Given the description of an element on the screen output the (x, y) to click on. 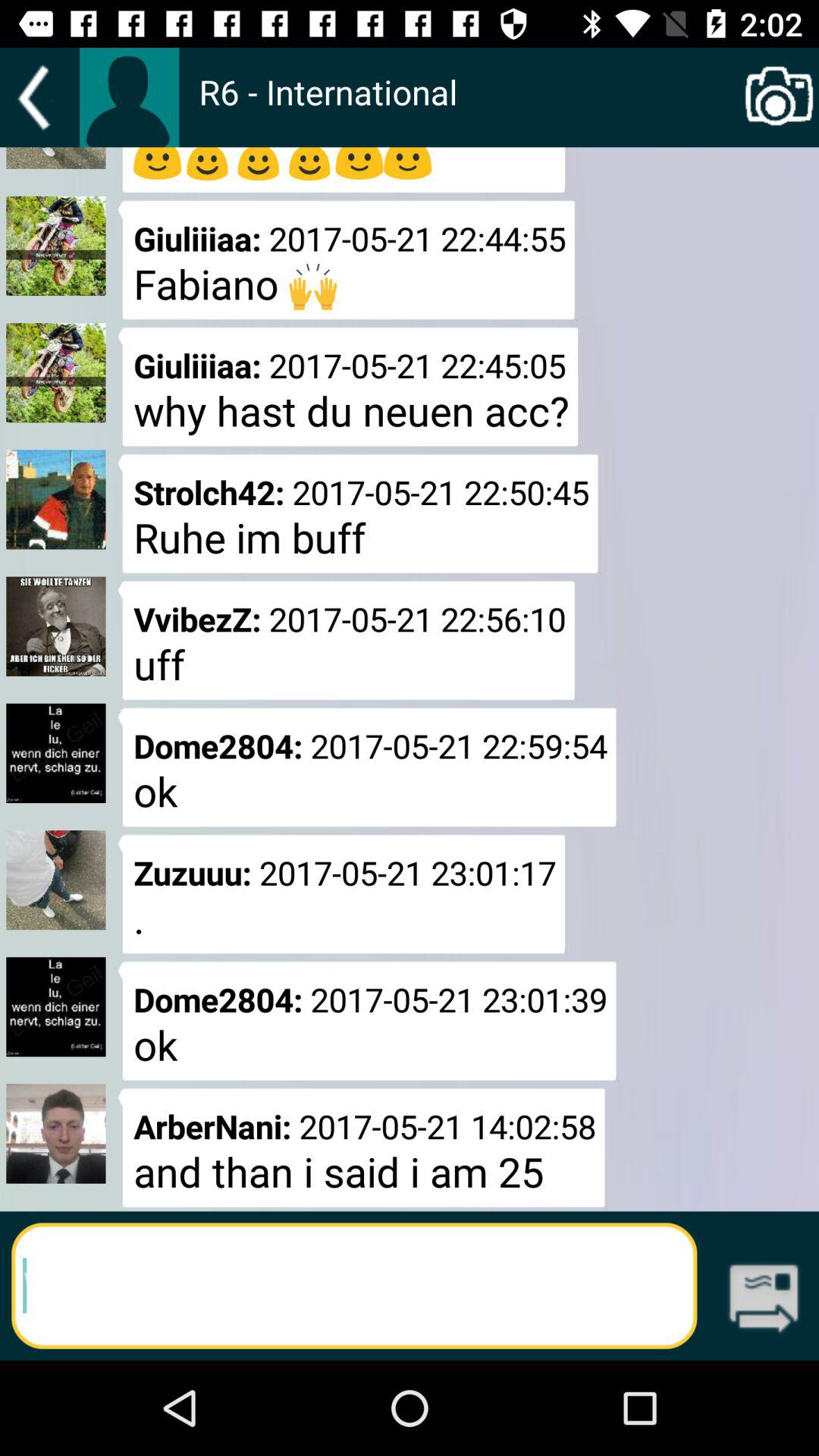
take a screenshot (779, 97)
